Given the description of an element on the screen output the (x, y) to click on. 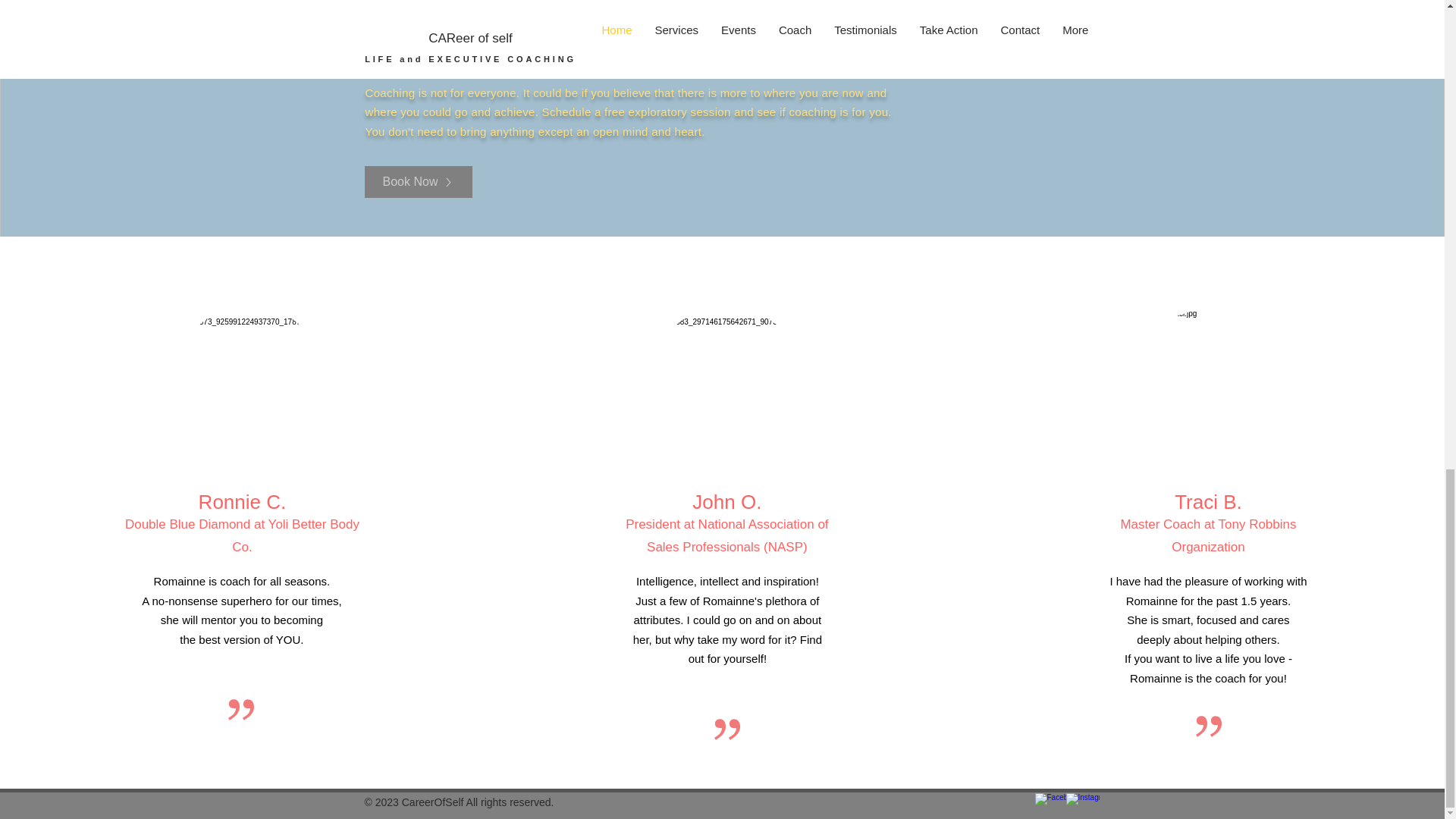
GettyImages-145680711.jpg (1208, 385)
GettyImages-535587703.jpg (248, 381)
GettyImages-124893619.jpg (726, 381)
Book Now (417, 182)
